Given the description of an element on the screen output the (x, y) to click on. 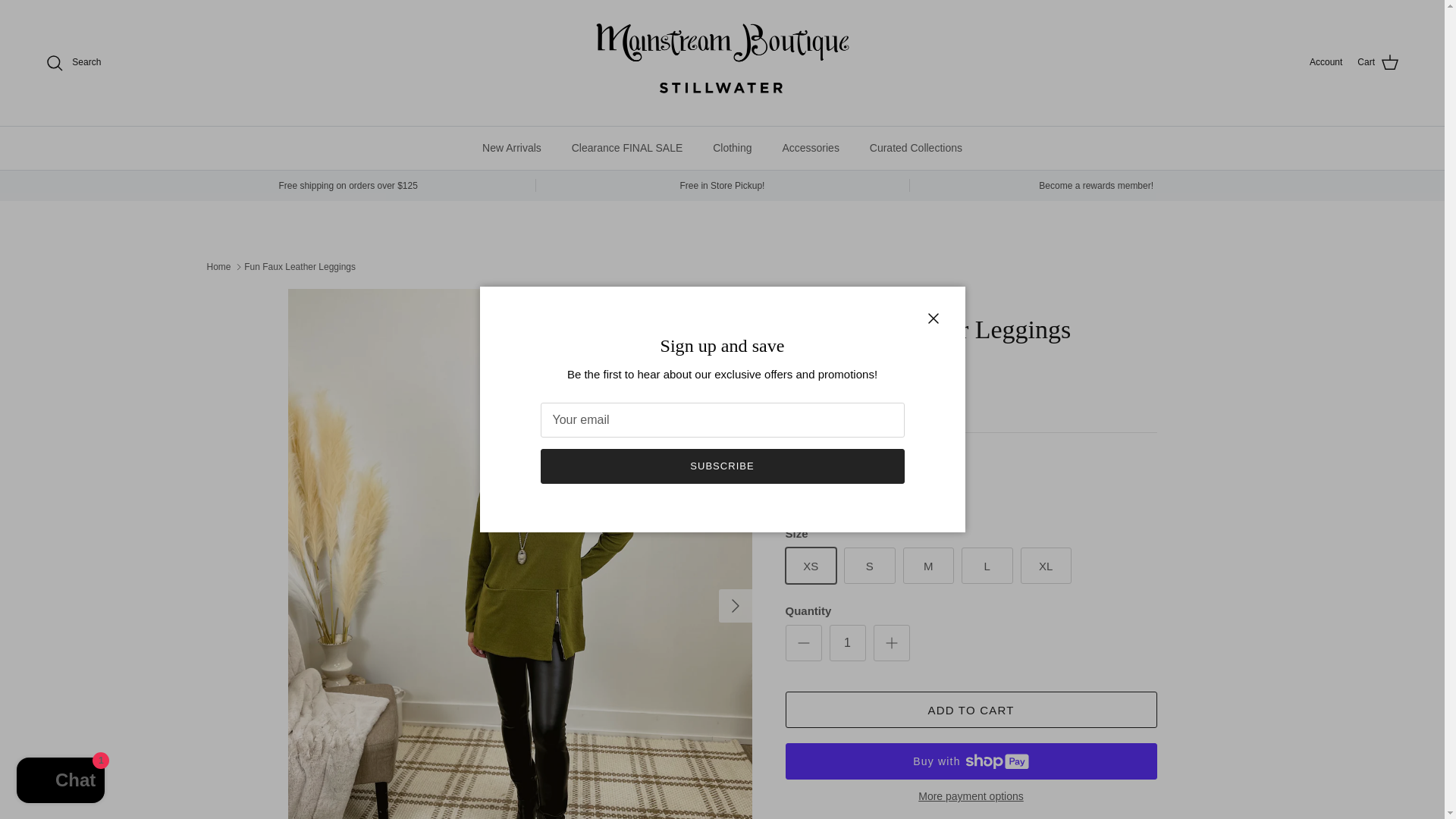
1 (847, 642)
Clothing (731, 147)
Cart (1377, 62)
MB Stillwater (722, 62)
Clearance FINAL SALE (627, 147)
Search (72, 63)
Shopify online store chat (60, 781)
Account (1325, 62)
New Arrivals (511, 147)
Accessories (809, 147)
Curated Collections (915, 147)
